Given the description of an element on the screen output the (x, y) to click on. 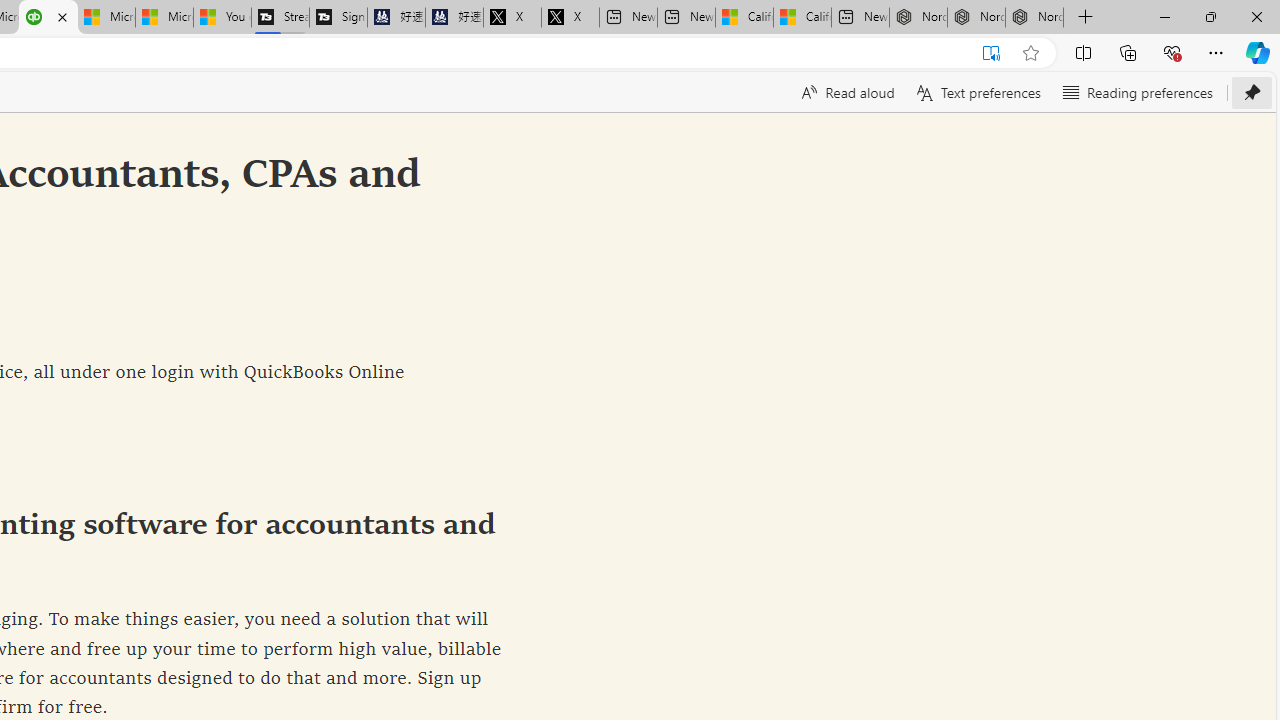
Nordace Siena Pro 15 Backpack (976, 17)
Text preferences (976, 92)
Accounting Software for Accountants, CPAs and Bookkeepers (48, 17)
Exit Immersive Reader (F9) (991, 53)
Reading preferences (1136, 92)
Read aloud (846, 92)
Nordace - Siena Pro 15 Essential Set (1034, 17)
